Given the description of an element on the screen output the (x, y) to click on. 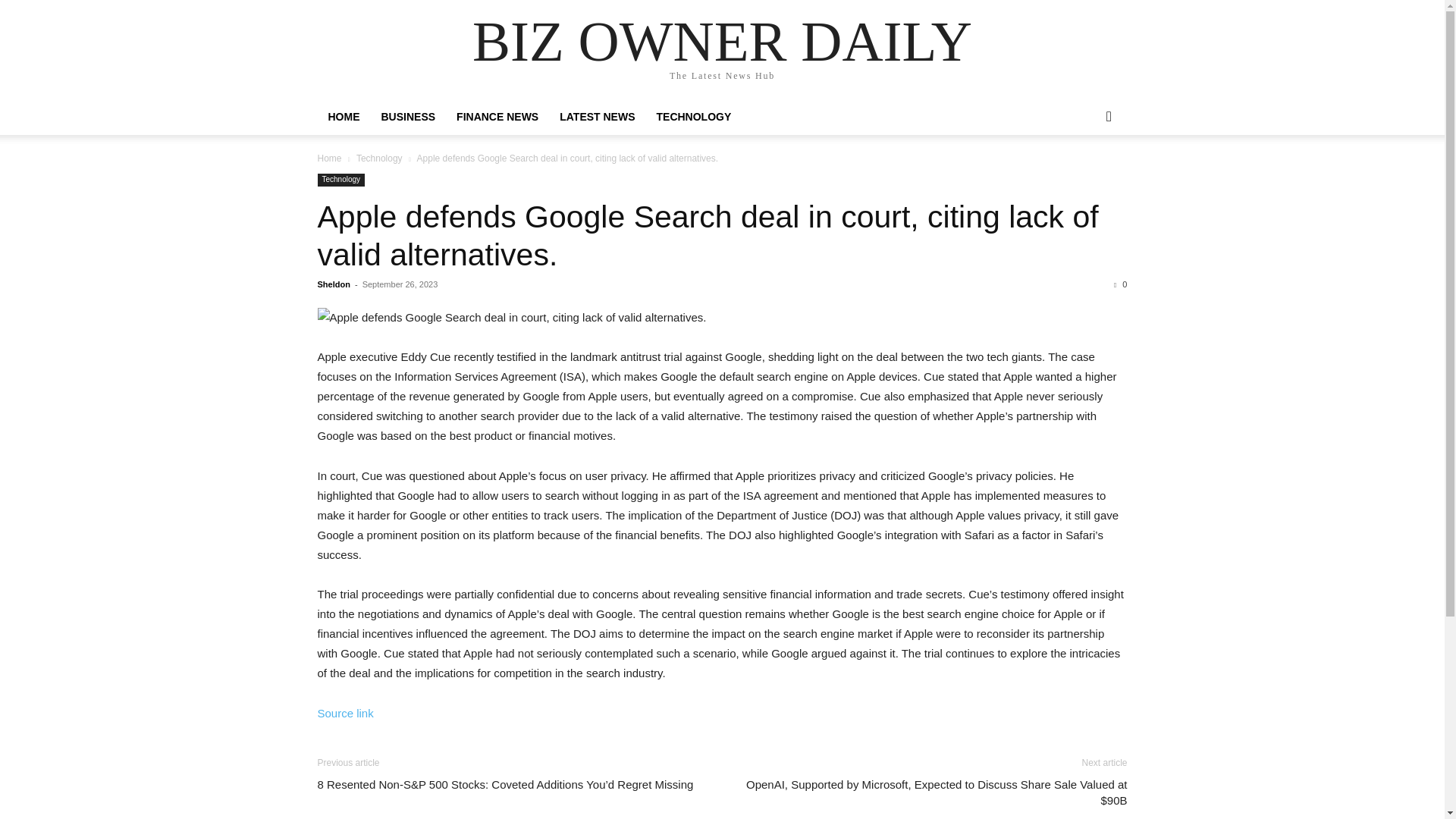
BIZ OWNER DAILY (721, 41)
0 (1119, 284)
Source link (344, 712)
Home (328, 158)
TECHNOLOGY (694, 116)
View all posts in Technology (379, 158)
Technology (341, 179)
HOME (343, 116)
FINANCE NEWS (496, 116)
Search (1085, 177)
Technology (379, 158)
BUSINESS (407, 116)
